Given the description of an element on the screen output the (x, y) to click on. 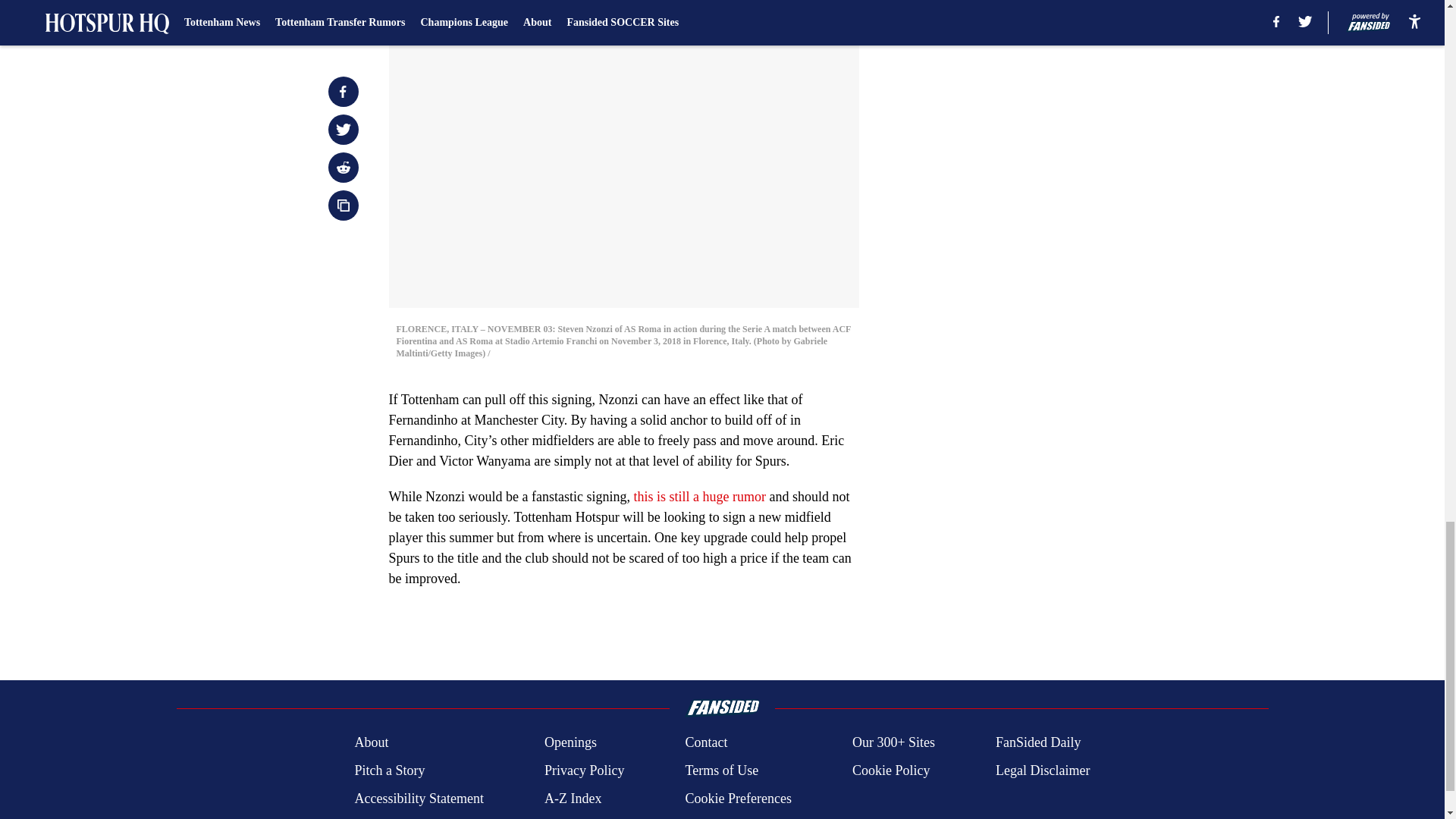
Contact (705, 742)
Cookie Policy (890, 770)
this is still a huge rumor (699, 496)
A-Z Index (572, 798)
Cookie Preferences (737, 798)
About (370, 742)
Openings (570, 742)
Pitch a Story (389, 770)
Terms of Use (721, 770)
Accessibility Statement (418, 798)
